Given the description of an element on the screen output the (x, y) to click on. 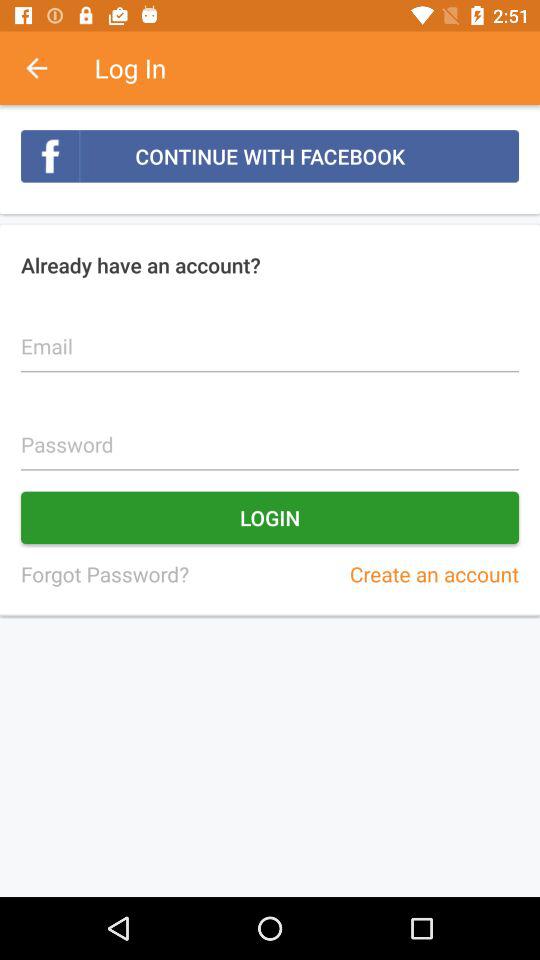
enter e-mail address (270, 335)
